Given the description of an element on the screen output the (x, y) to click on. 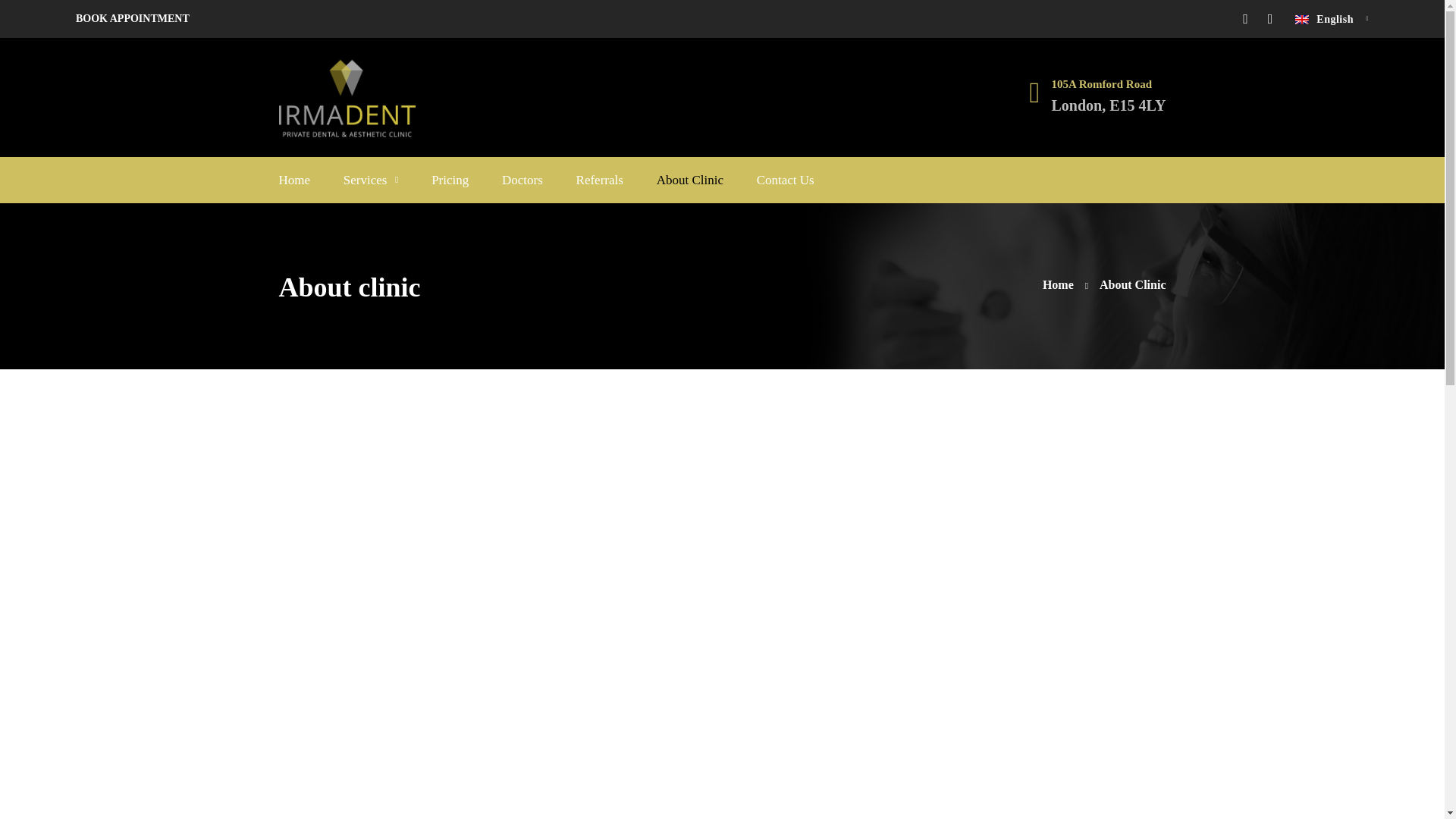
Home (1064, 284)
English (1331, 18)
Services (370, 180)
Referrals (599, 180)
About Clinic (689, 180)
BOOK APPOINTMENT (132, 18)
Contact Us (785, 180)
